Given the description of an element on the screen output the (x, y) to click on. 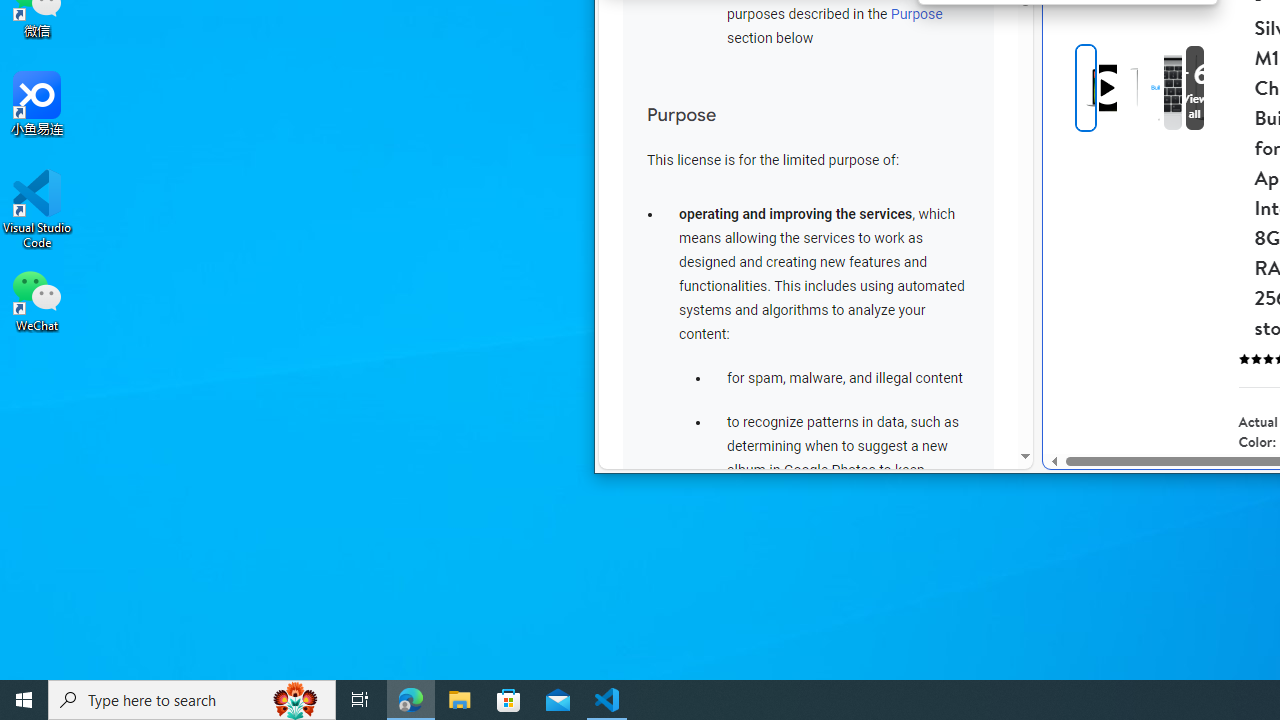
File Explorer (460, 699)
View all media (1194, 88)
Class: absolute pointer (1107, 88)
Gold (1259, 483)
Visual Studio Code - 1 running window (607, 699)
Microsoft Edge - 1 running window (411, 699)
View all media (1227, 88)
